Given the description of an element on the screen output the (x, y) to click on. 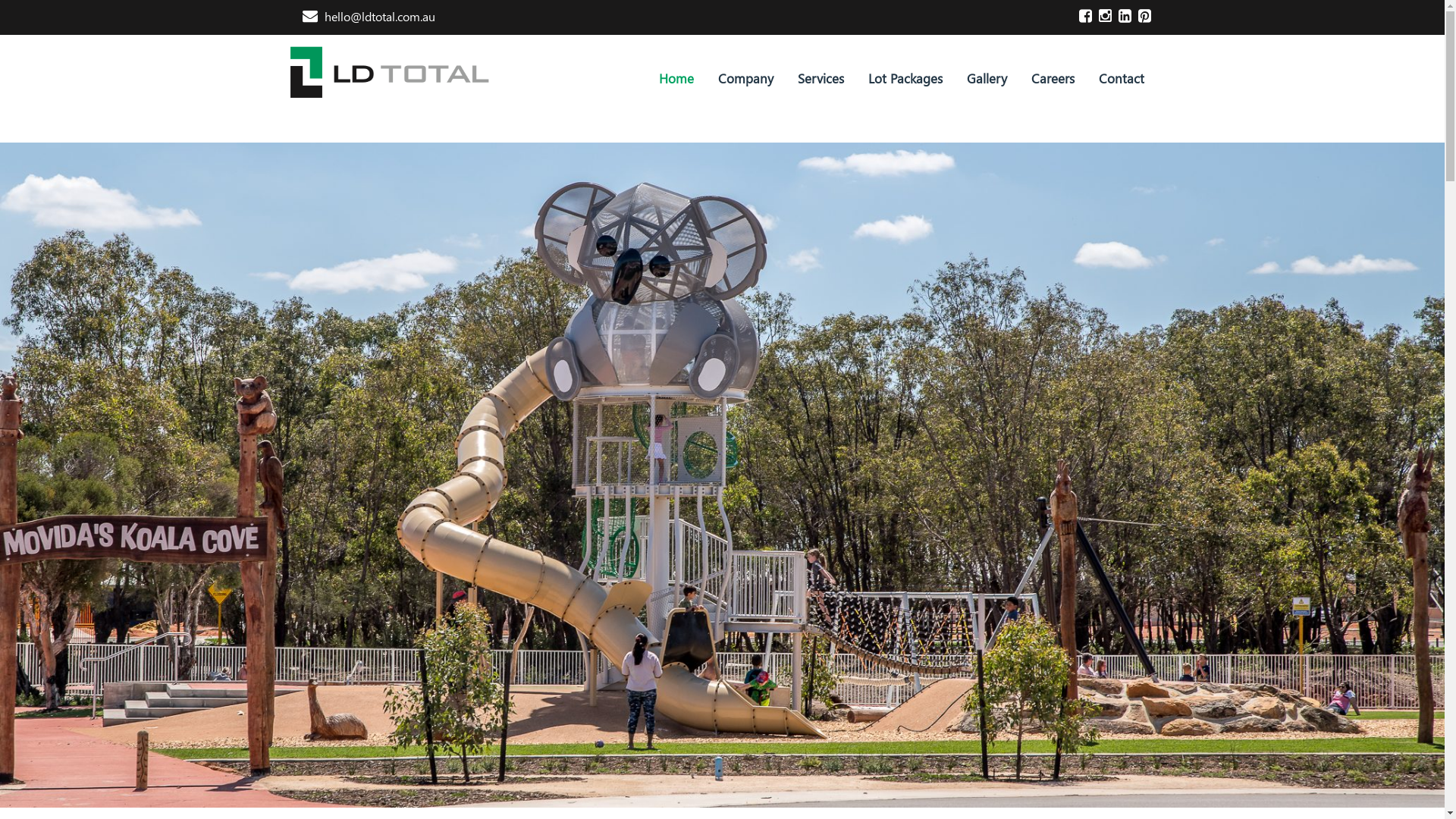
hello@ldtotal.com.au Element type: text (367, 16)
Services Element type: text (820, 77)
Gallery Element type: text (985, 77)
Careers Element type: text (1052, 77)
Lot Packages Element type: text (904, 77)
Home Element type: text (675, 78)
Contact Element type: text (1120, 77)
Company Element type: text (744, 77)
